Given the description of an element on the screen output the (x, y) to click on. 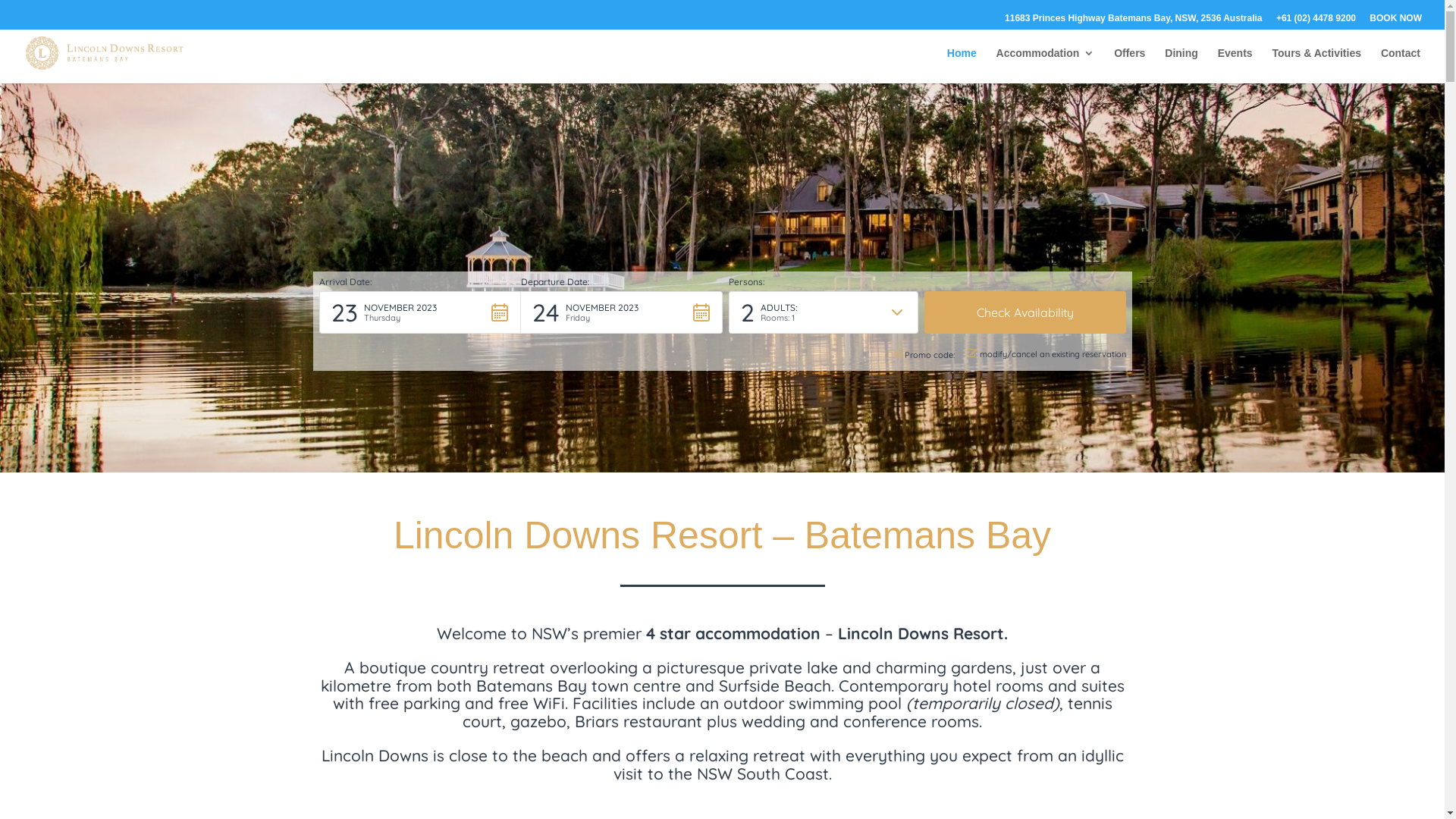
Promo code: Element type: text (920, 354)
Contact Element type: text (1400, 65)
Home Element type: text (961, 65)
Events Element type: text (1234, 65)
+61 (02) 4478 9200 Element type: text (1315, 21)
BOOK NOW Element type: text (1395, 21)
Tours & Activities Element type: text (1316, 65)
Offers Element type: text (1129, 65)
Accommodation Element type: text (1045, 65)
Dining Element type: text (1181, 65)
modify/cancel an existing reservation Element type: text (1045, 354)
11683 Princes Highway Batemans Bay, NSW, 2536 Australia Element type: text (1133, 21)
